Given the description of an element on the screen output the (x, y) to click on. 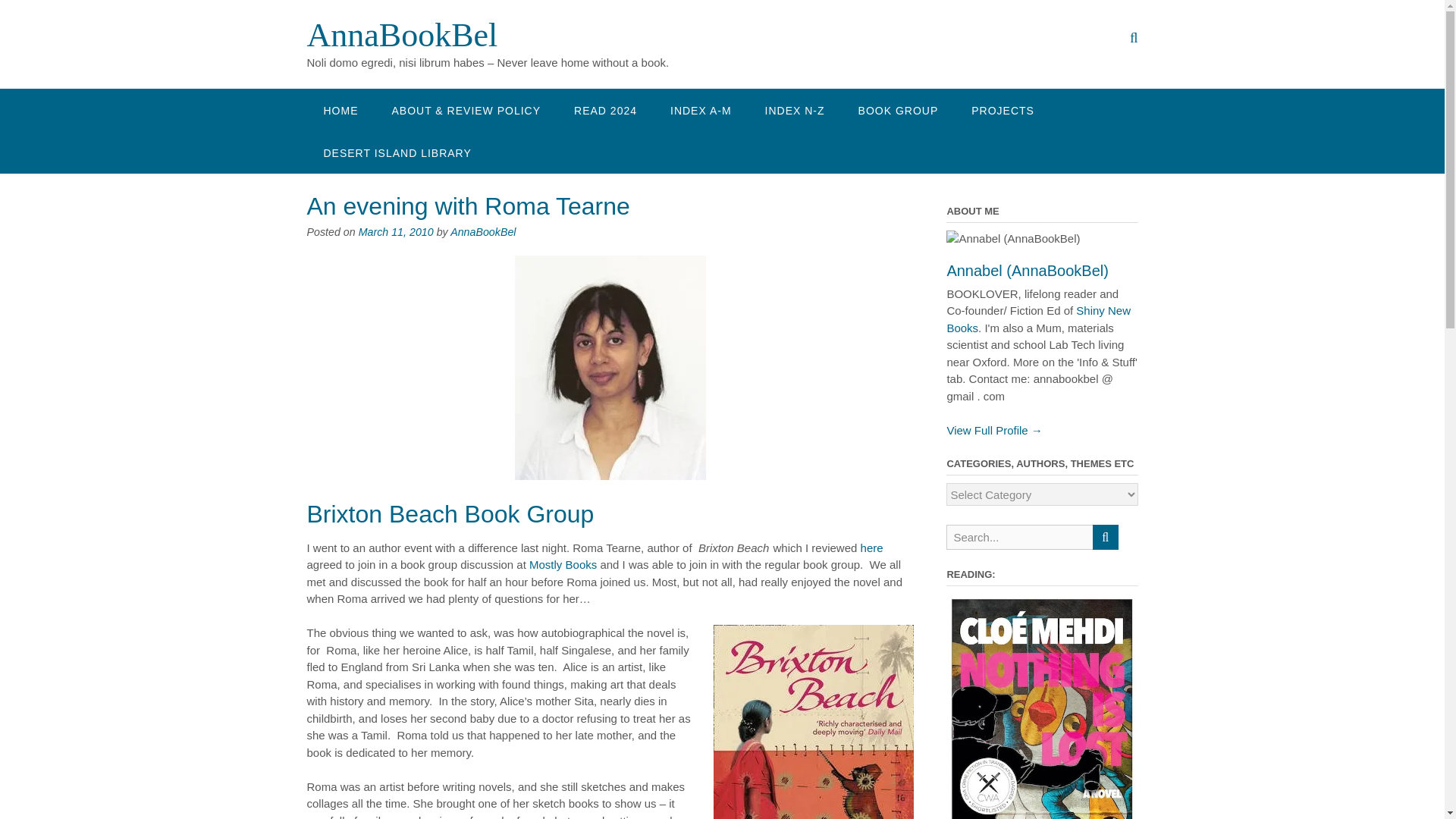
DESERT ISLAND LIBRARY (396, 152)
READ 2024 (605, 109)
BOOK GROUP (898, 109)
AnnaBookBel (401, 35)
AnnaBookBel (401, 35)
INDEX A-M (700, 109)
PROJECTS (1003, 109)
Mostly Books (562, 563)
March 11, 2010 (395, 232)
INDEX N-Z (794, 109)
